Given the description of an element on the screen output the (x, y) to click on. 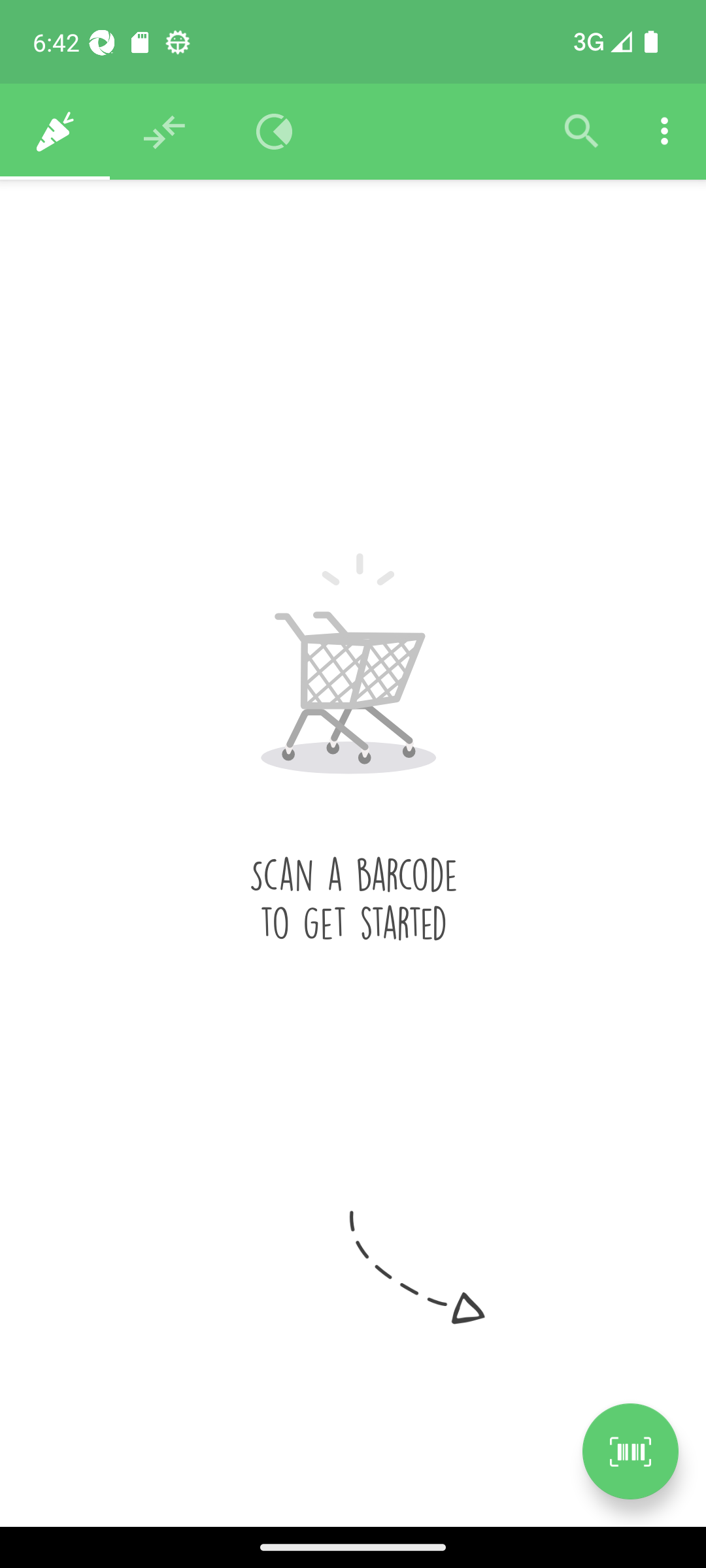
Recommendations (164, 131)
Overview (274, 131)
Filter (581, 131)
Settings (664, 131)
Scan a product (630, 1451)
